Given the description of an element on the screen output the (x, y) to click on. 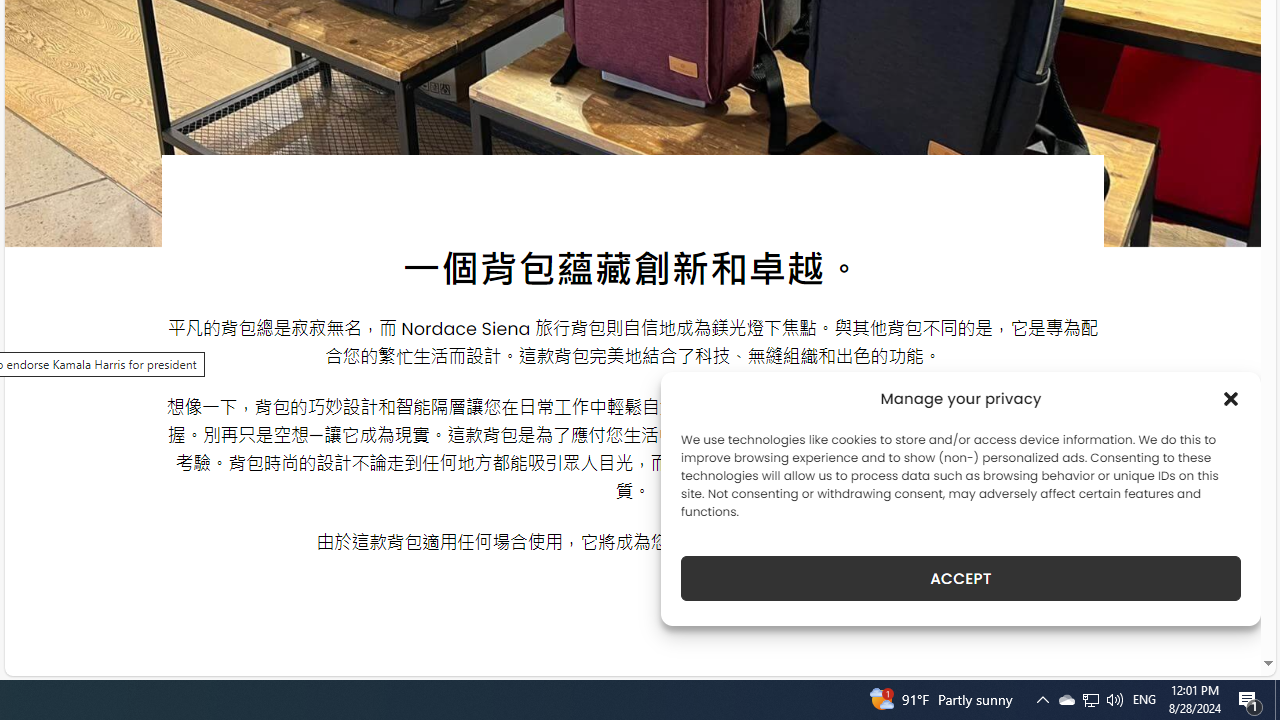
ACCEPT (960, 578)
Class: cmplz-close (1231, 398)
